Given the description of an element on the screen output the (x, y) to click on. 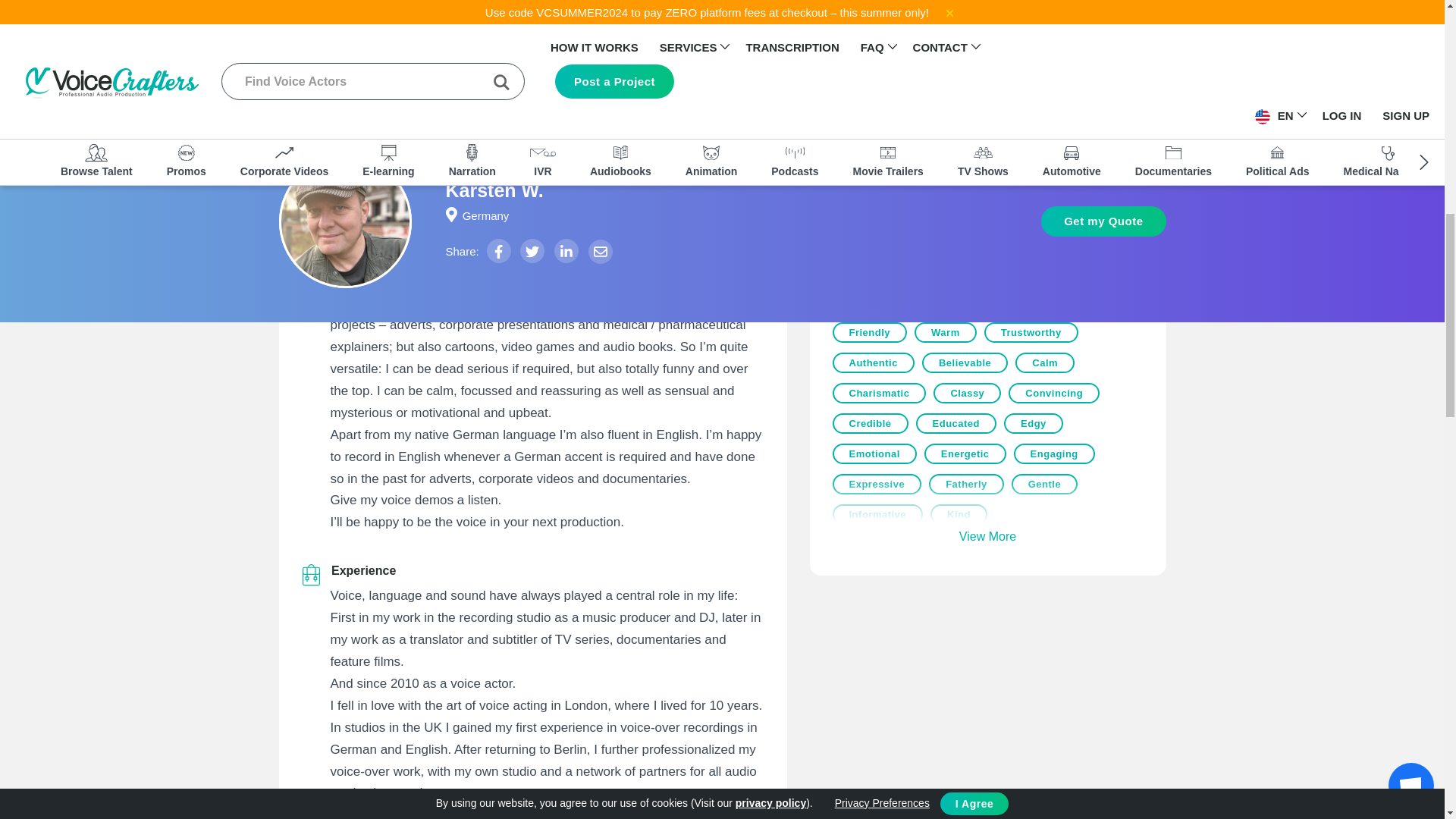
ENGLISH (532, 31)
